Given the description of an element on the screen output the (x, y) to click on. 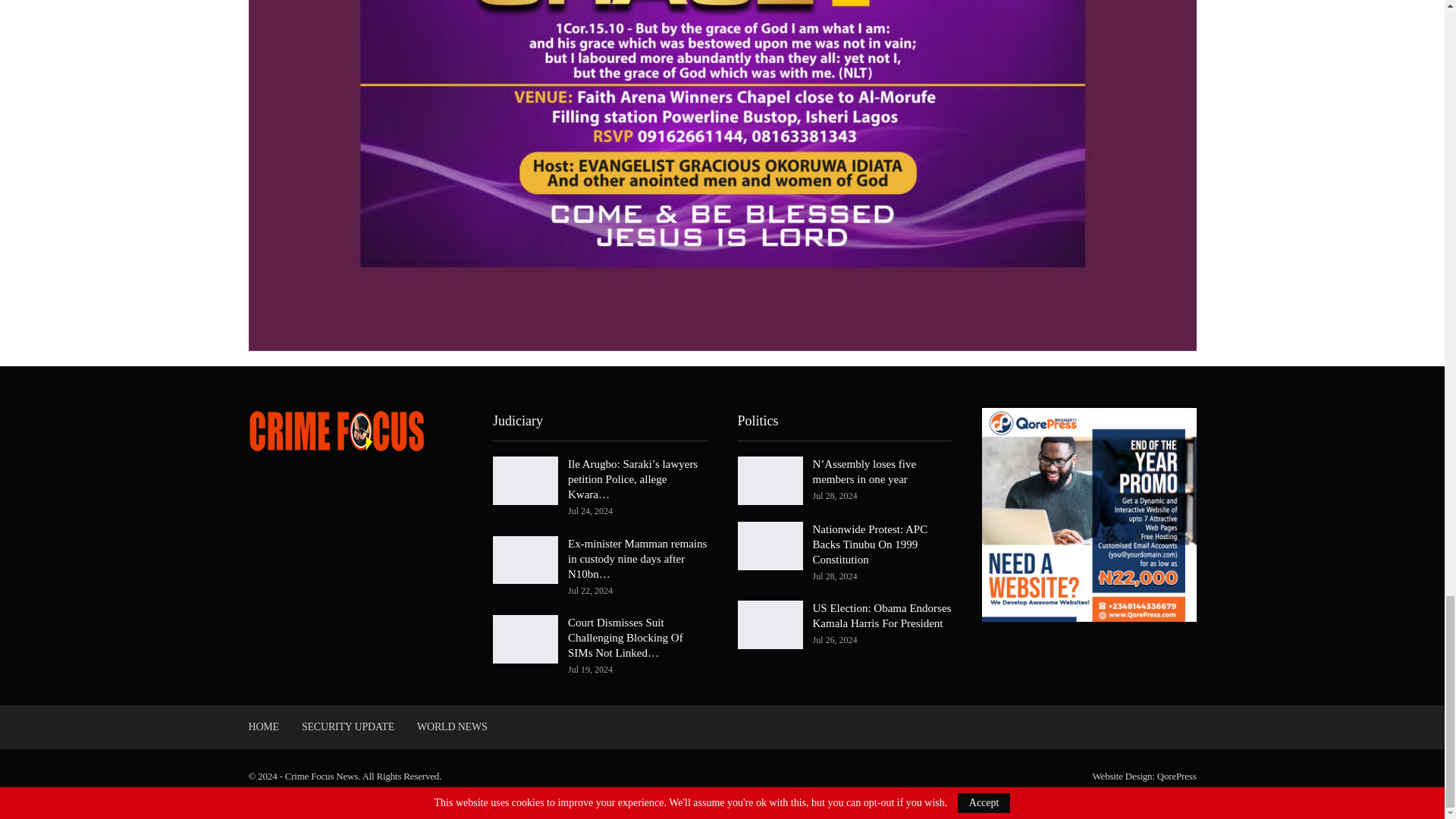
US Election: Obama Endorses Kamala Harris For President (769, 624)
Dental Implant (29, 808)
Nationwide Protest: APC Backs Tinubu On 1999 Constitution (769, 545)
